Given the description of an element on the screen output the (x, y) to click on. 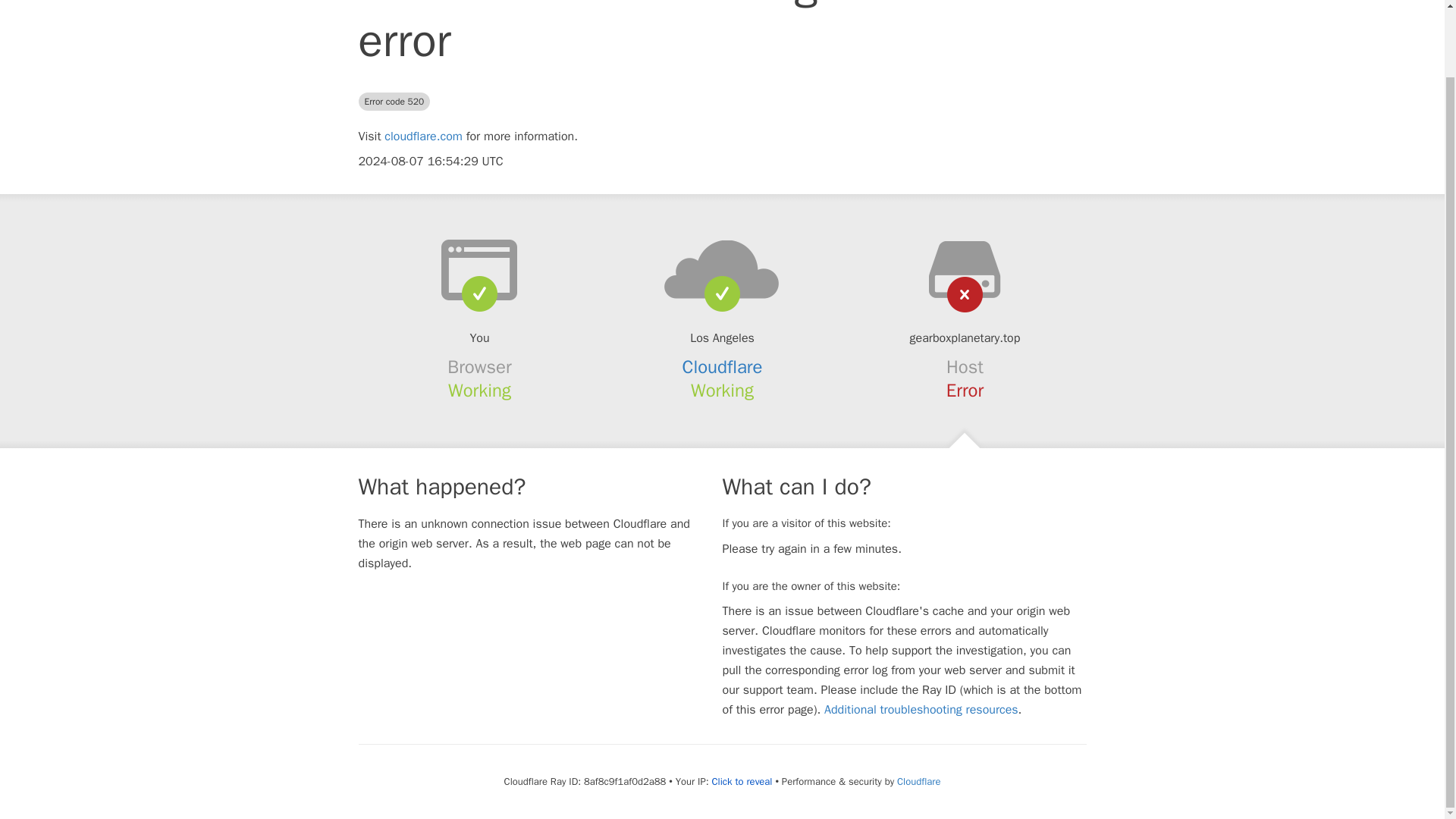
Cloudflare (918, 780)
Click to reveal (742, 781)
cloudflare.com (423, 136)
Additional troubleshooting resources (920, 709)
Cloudflare (722, 366)
